Given the description of an element on the screen output the (x, y) to click on. 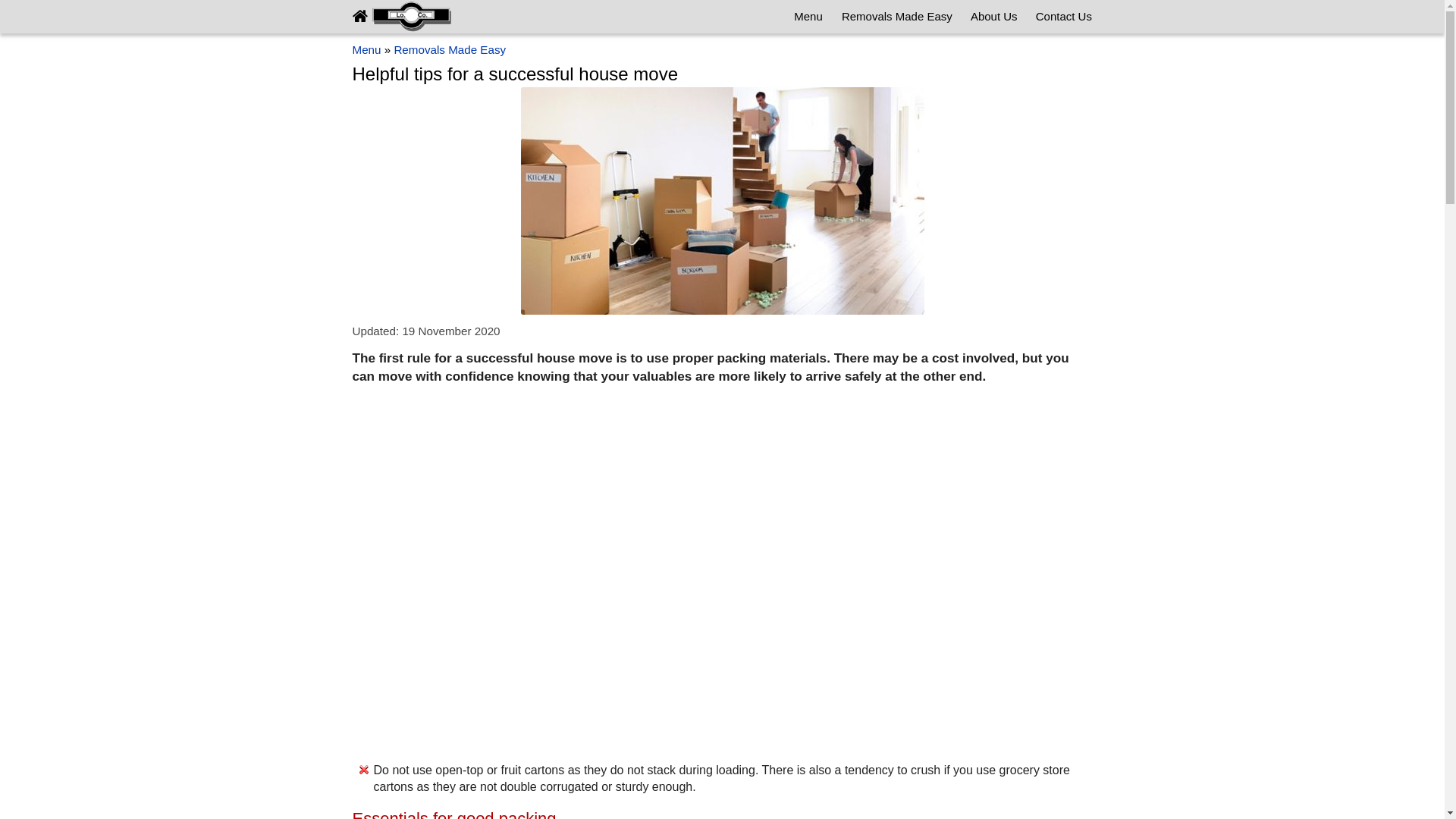
Home page Element type: hover (401, 16)
Removals Made Easy Element type: text (896, 16)
Menu Element type: text (808, 16)
About Us Element type: text (993, 16)
Menu Element type: text (365, 49)
Removals Made Easy Element type: text (449, 49)
Contact Us Element type: text (1063, 16)
